Given the description of an element on the screen output the (x, y) to click on. 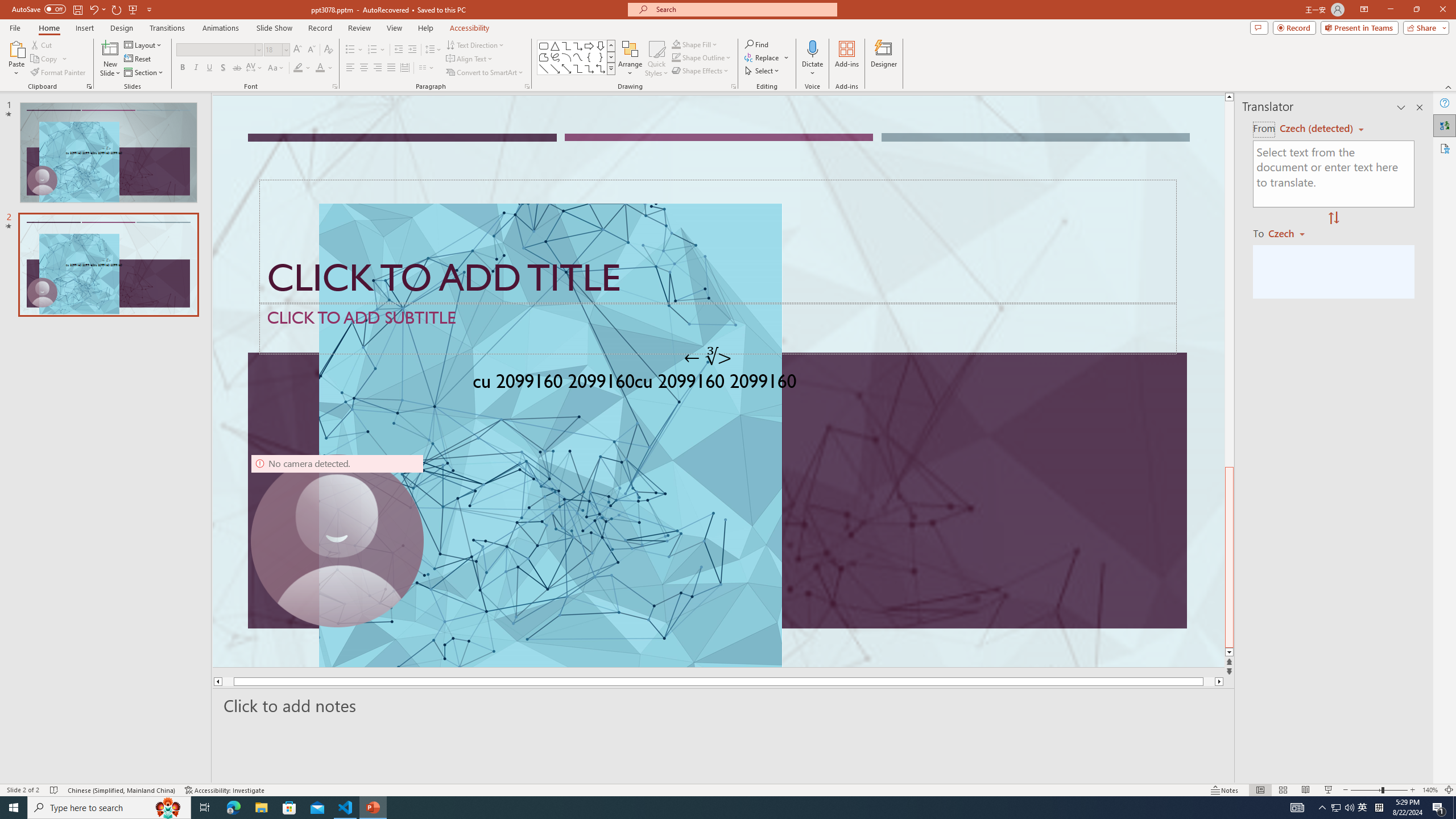
Connector: Elbow Double-Arrow (600, 68)
An abstract genetic concept (718, 381)
Line Arrow: Double (566, 68)
